Given the description of an element on the screen output the (x, y) to click on. 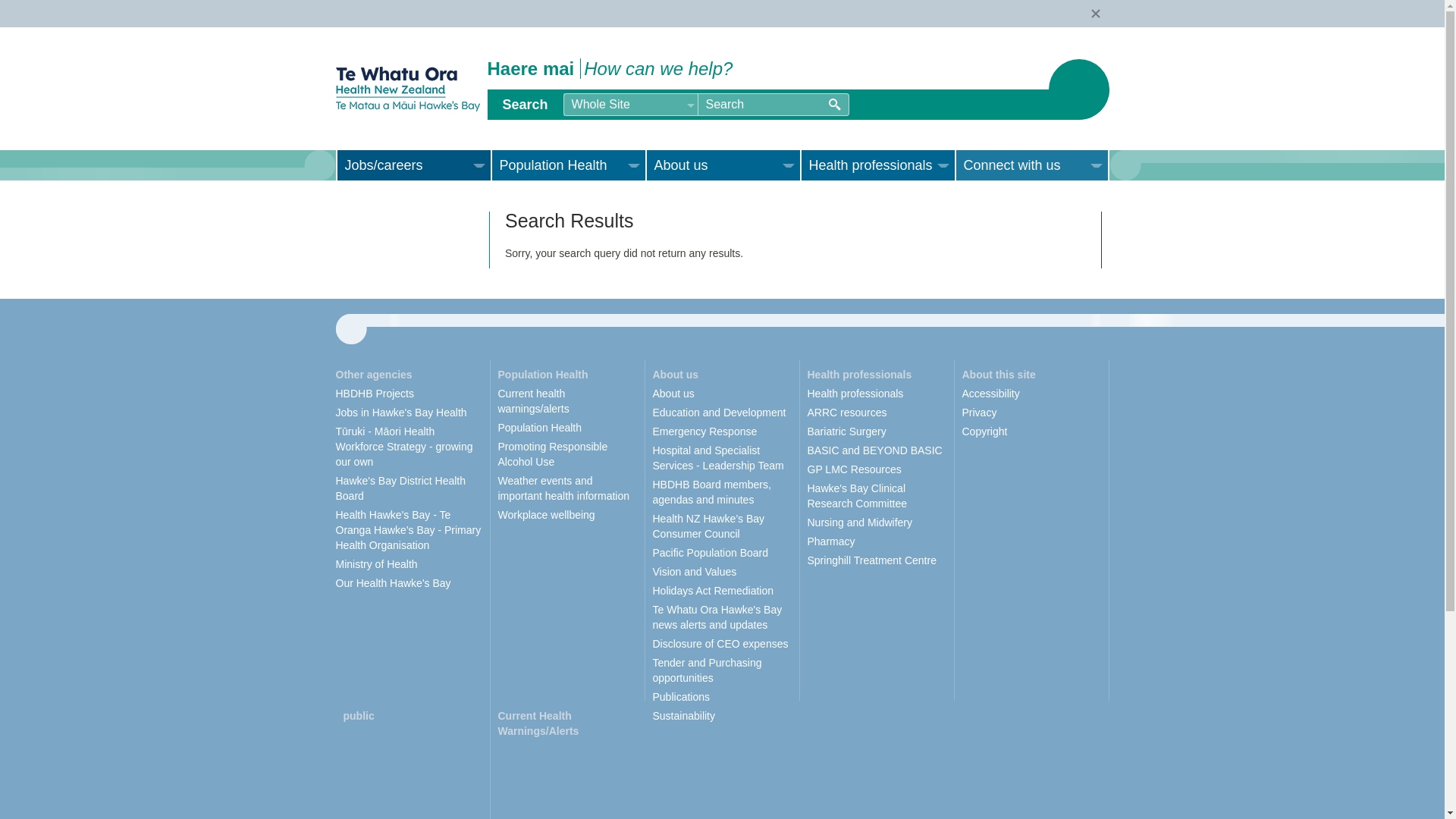
Go (834, 104)
Go (834, 104)
Hawkes Bay Health (406, 88)
Health professionals (876, 164)
Connect with us (1030, 164)
About us (722, 164)
Close (1099, 18)
Population Health (567, 164)
